Given the description of an element on the screen output the (x, y) to click on. 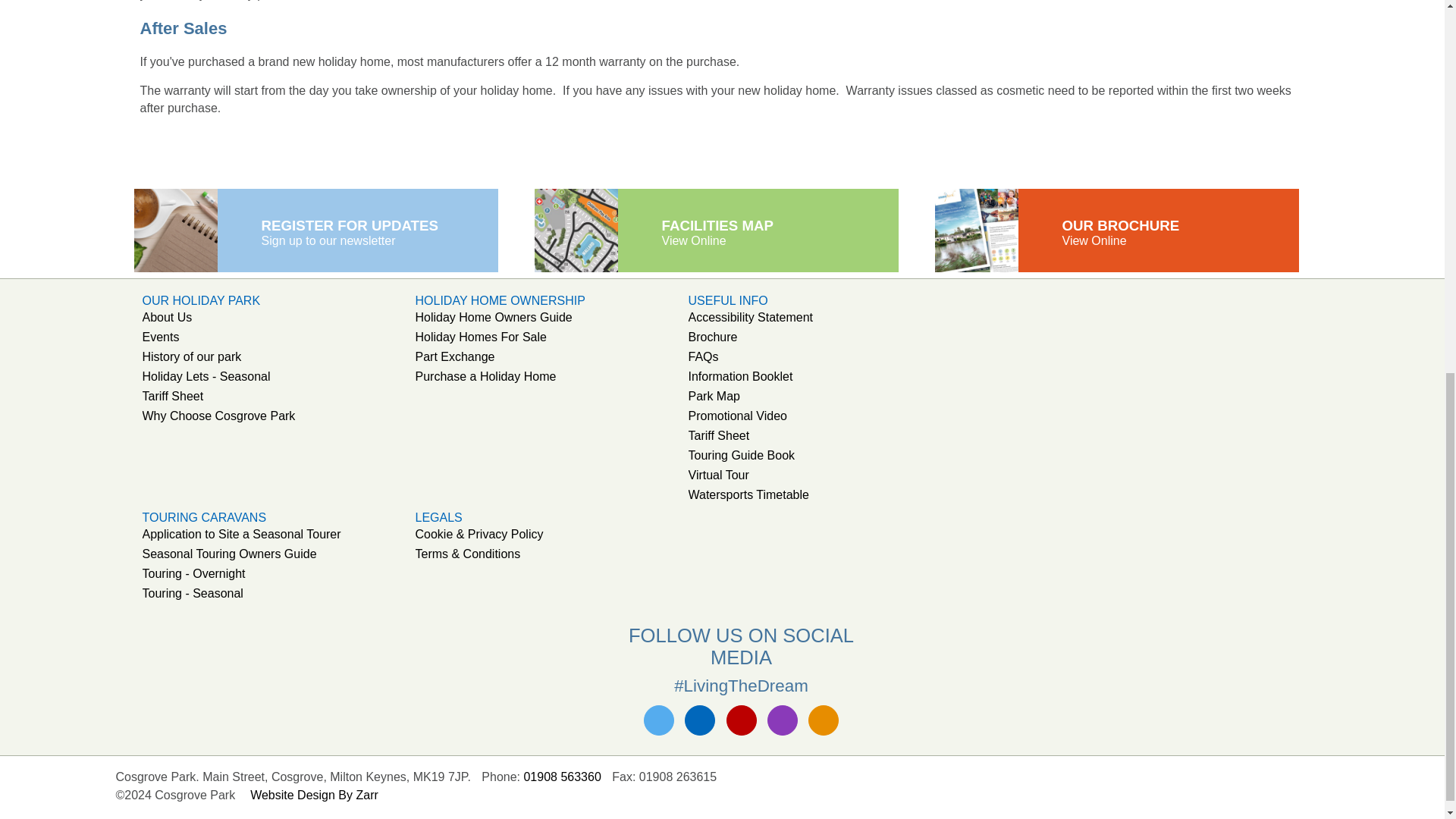
Tariff Sheet (172, 395)
Accessibility Statement (750, 317)
Purchase a Holiday Home (485, 376)
Events (160, 336)
About Us (167, 317)
History of our park (191, 356)
Holiday Home Owners Guide (493, 317)
Why Choose Cosgrove Park (218, 415)
Holiday Homes For Sale (480, 336)
Information Booklet (740, 376)
Brochure (713, 336)
Holiday Lets - Seasonal (206, 376)
FAQs (703, 356)
Part Exchange (454, 356)
